Given the description of an element on the screen output the (x, y) to click on. 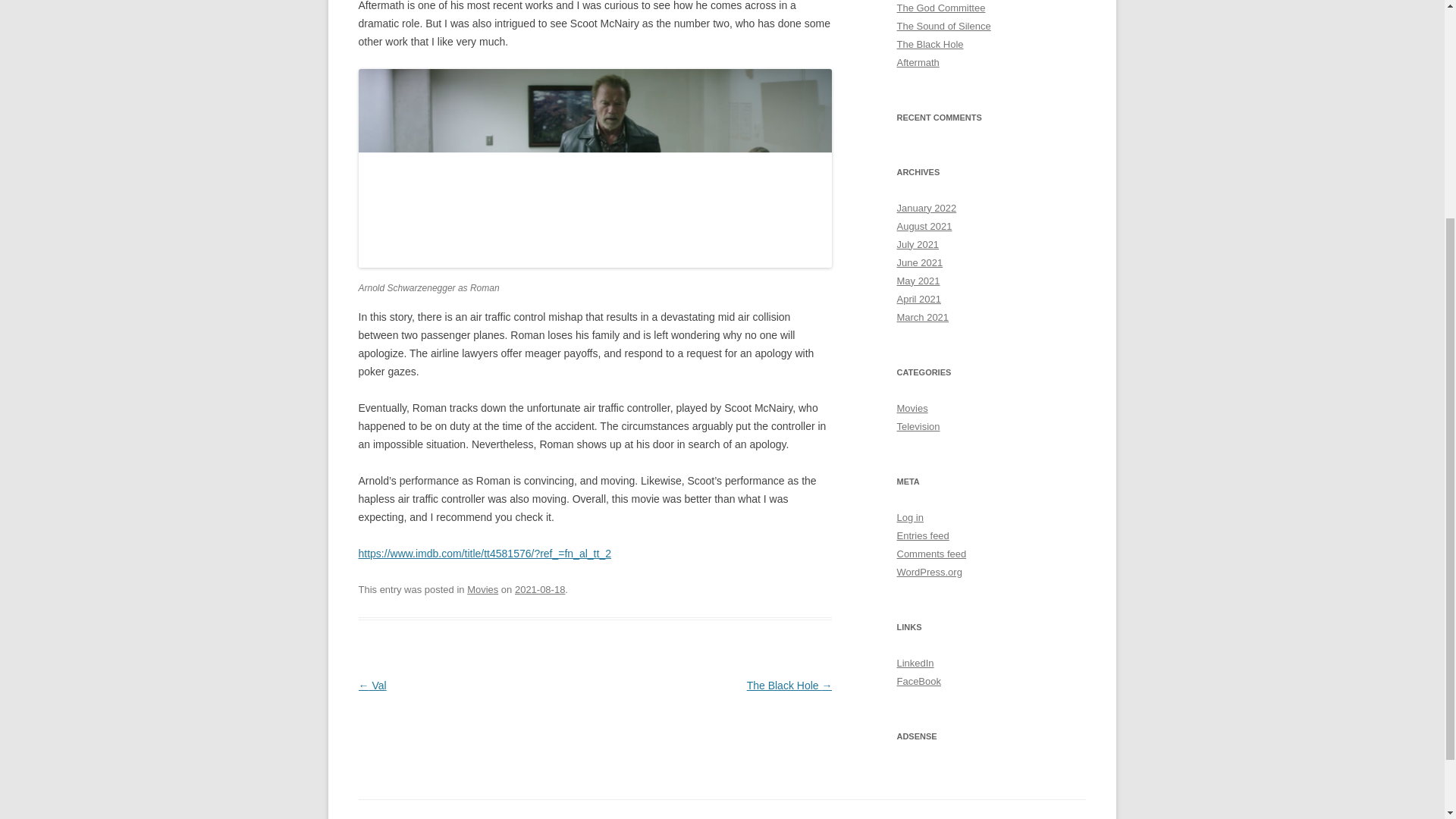
Movies (911, 408)
The God Committee (940, 7)
January 2022 (926, 207)
May 2021 (917, 280)
Television (917, 426)
Entries feed (922, 535)
The Black Hole (929, 43)
LinkedIn (914, 663)
Log in (909, 517)
FaceBook (918, 681)
2021-08-18 (539, 589)
Comments feed (931, 553)
WordPress.org (928, 572)
August 2021 (924, 225)
21:08:21 (539, 589)
